Given the description of an element on the screen output the (x, y) to click on. 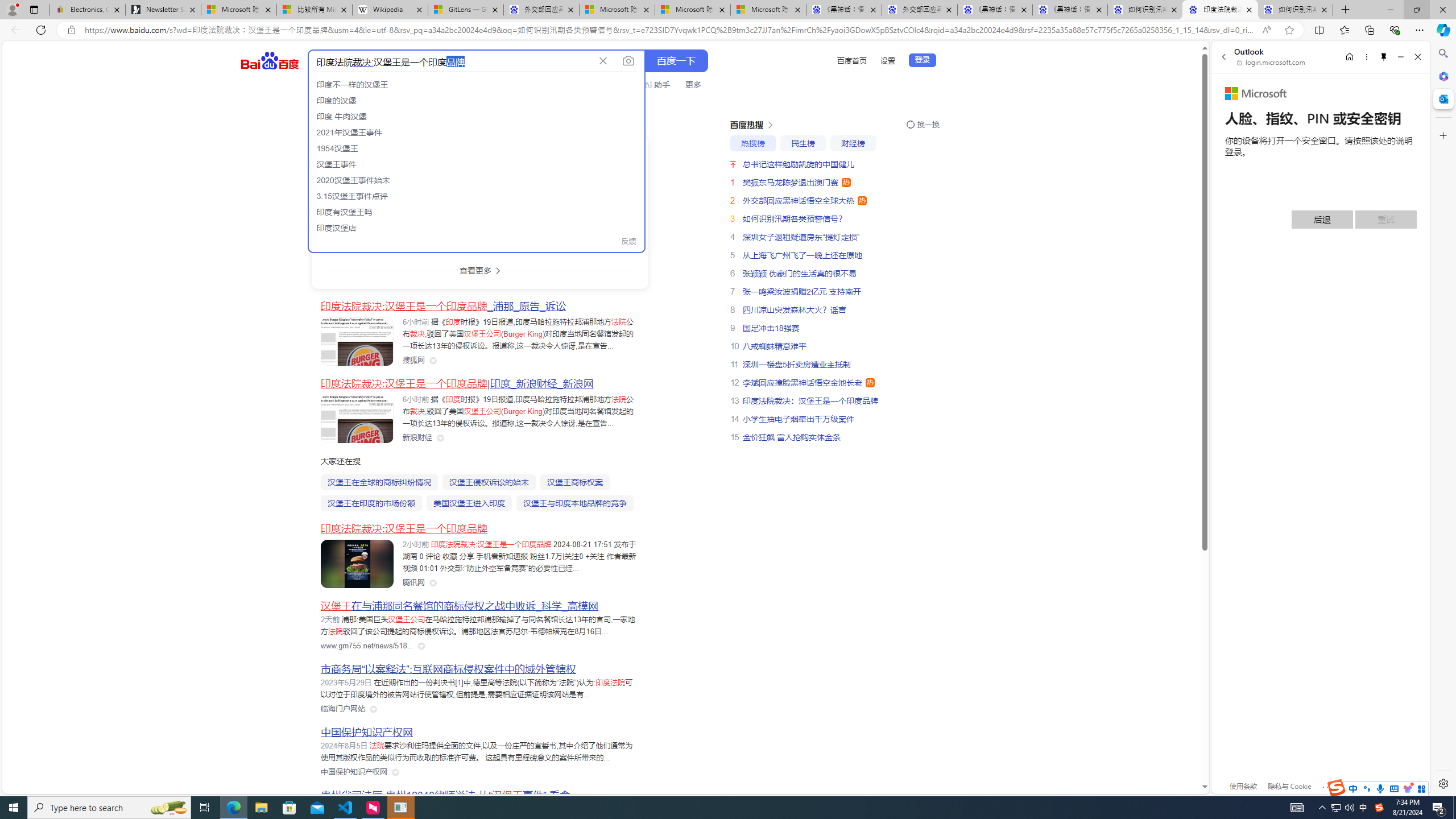
AutomationID: kw (451, 61)
